Given the description of an element on the screen output the (x, y) to click on. 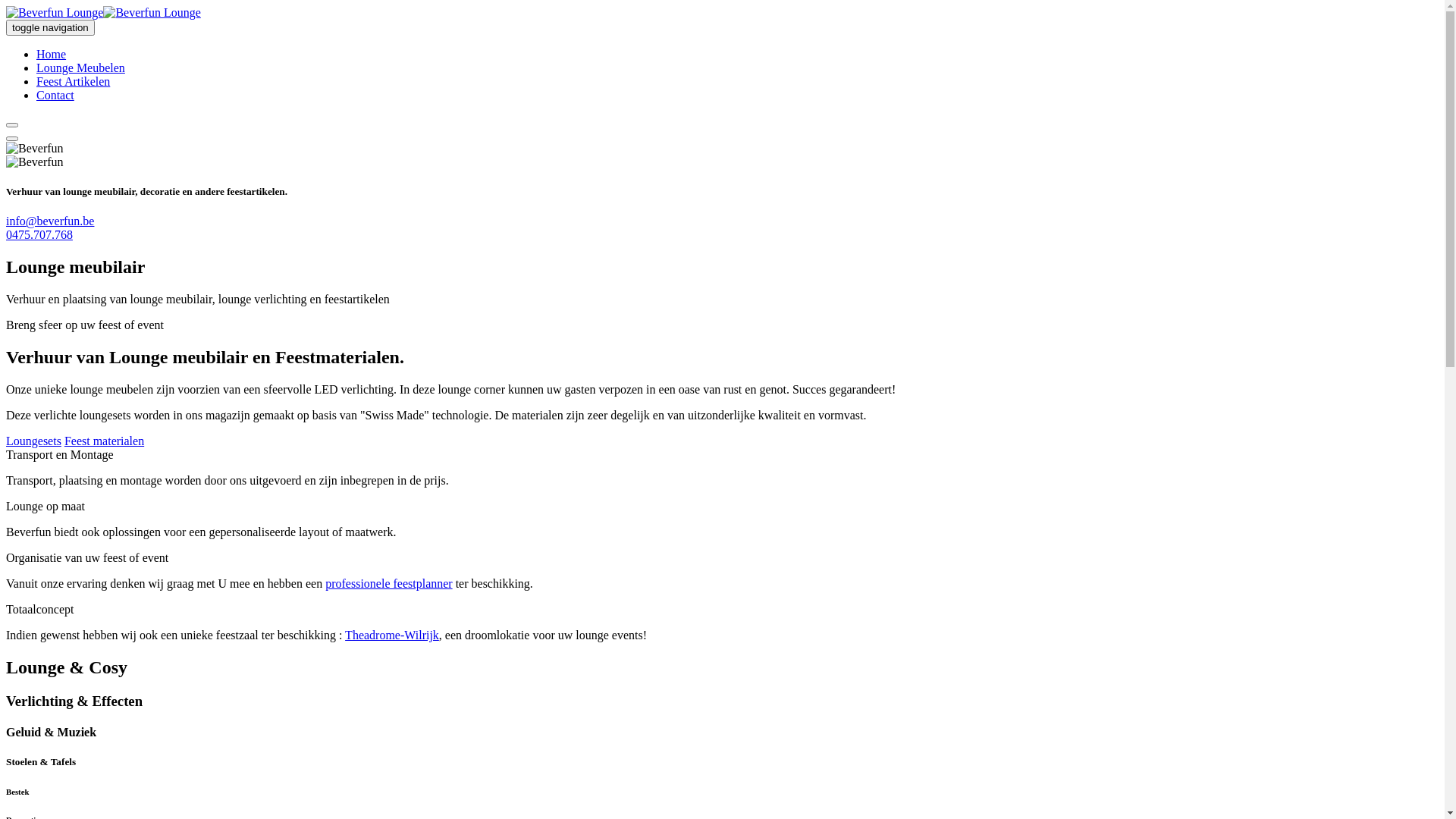
Loungesets Element type: text (33, 440)
info@beverfun.be Element type: text (50, 220)
toggle navigation Element type: text (50, 27)
Feest Artikelen Element type: text (72, 81)
Theadrome-Wilrijk Element type: text (392, 634)
Contact Element type: text (55, 94)
Lounge Meubelen Element type: text (80, 67)
0475.707.768 Element type: text (39, 234)
Home Element type: text (50, 53)
professionele feestplanner Element type: text (388, 583)
Beverfun Element type: hover (103, 12)
Feest materialen Element type: text (104, 440)
